Given the description of an element on the screen output the (x, y) to click on. 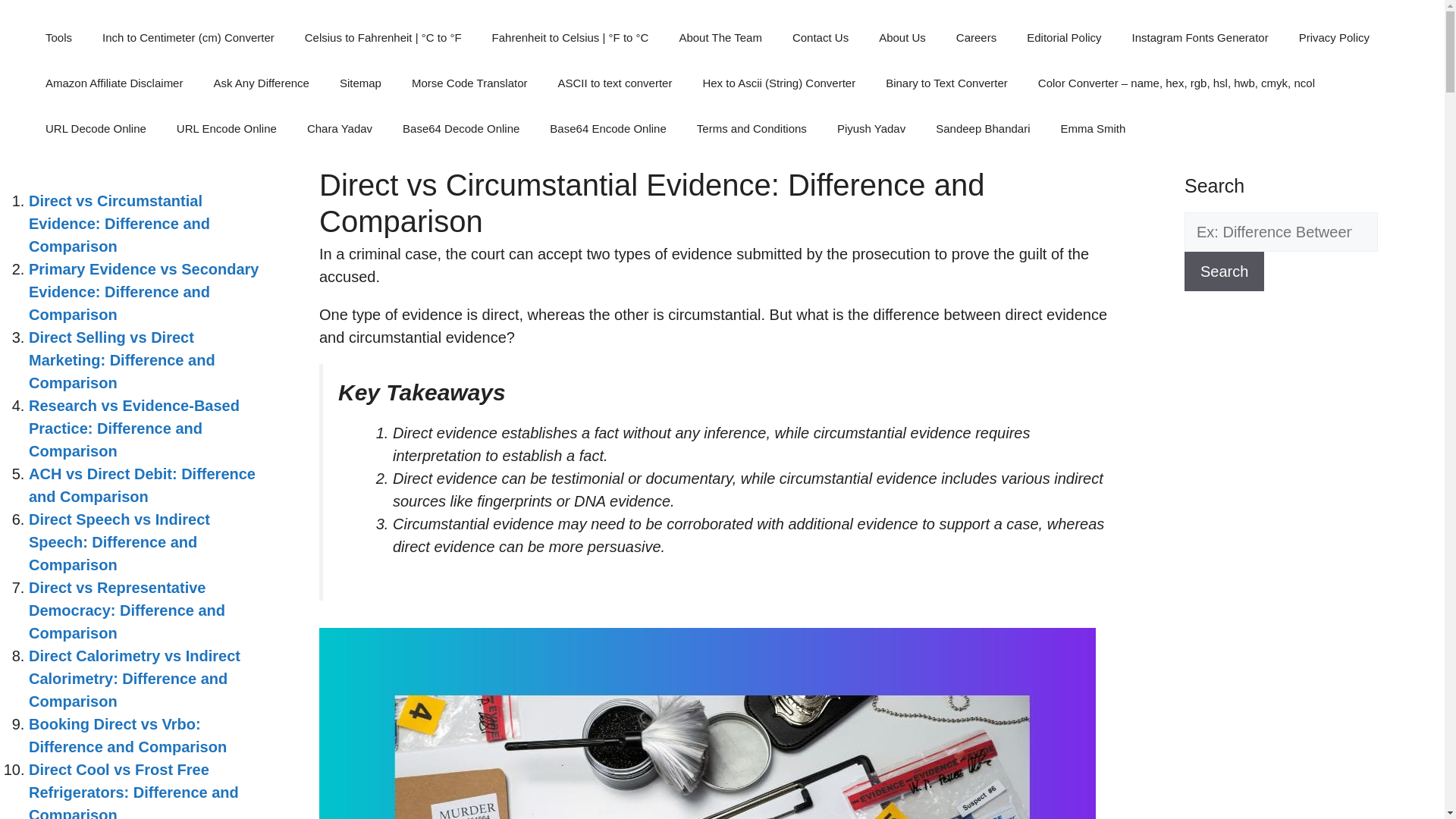
Amazon Affiliate Disclaimer (114, 83)
Base64 Encode Online (607, 128)
Instagram Fonts Generator (1200, 37)
About Us (901, 37)
Privacy Policy (1334, 37)
URL Encode Online (226, 128)
Binary to Text Converter (946, 83)
URL Decode Online (95, 128)
Piyush Yadav (871, 128)
Tools (58, 37)
Morse Code Translator (469, 83)
Base64 Decode Online (460, 128)
ASCII to text converter (615, 83)
About The Team (720, 37)
Terms and Conditions (751, 128)
